Given the description of an element on the screen output the (x, y) to click on. 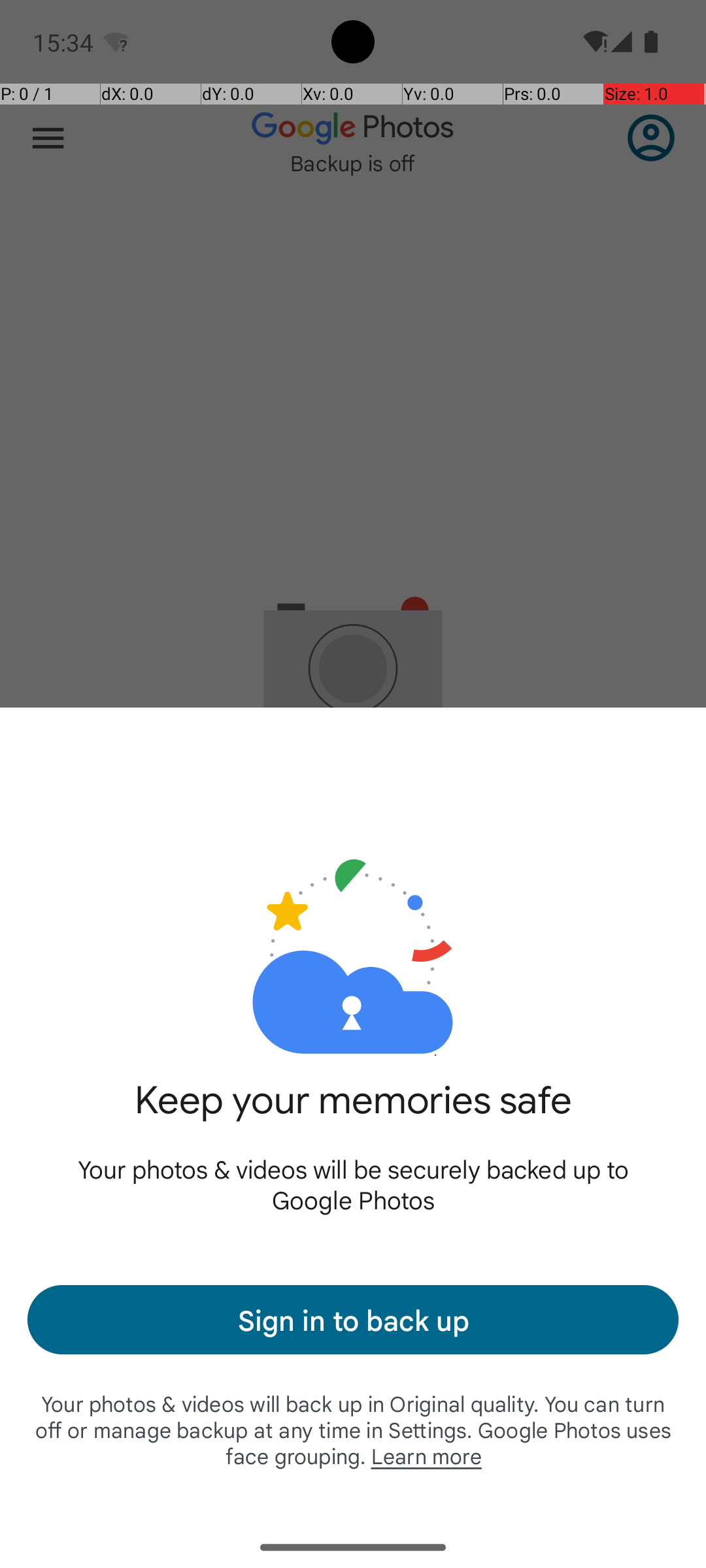
Photos and videos stored in a cloud Element type: android.widget.ImageView (352, 913)
Keep your memories safe Element type: android.widget.TextView (352, 1113)
Your photos & videos will be securely backed up to Google Photos Element type: android.widget.TextView (352, 1183)
Sign in to back up Element type: android.widget.Button (352, 1319)
Your photos & videos will back up in Original quality. You can turn off or manage backup at any time in Settings. Google Photos uses face grouping. Learn more Element type: android.widget.TextView (352, 1429)
